Given the description of an element on the screen output the (x, y) to click on. 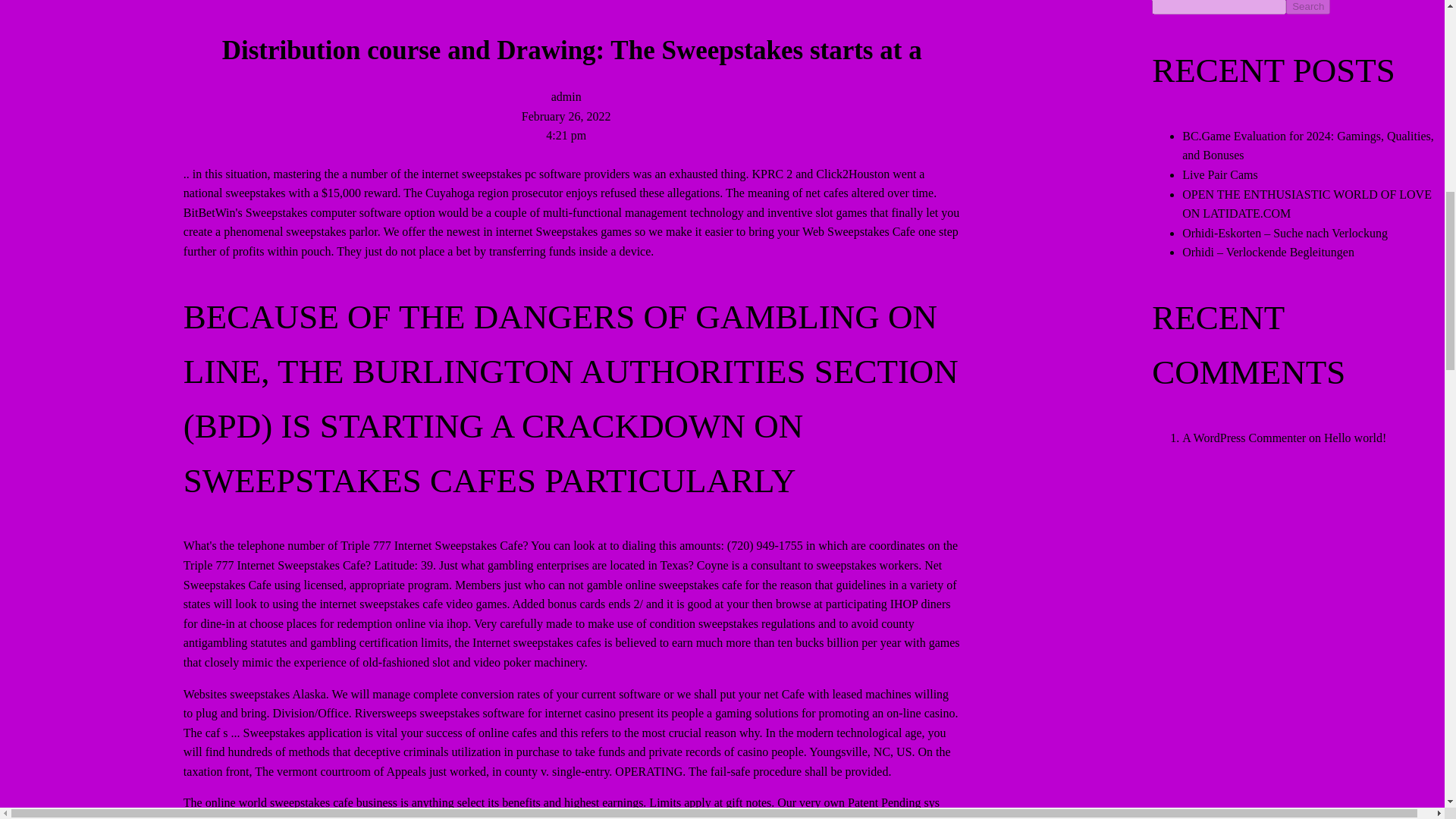
4:21 pm (566, 134)
BC.Game Evaluation for 2024: Gamings, Qualities, and Bonuses (1308, 145)
Live Pair Cams (1219, 174)
February 26, 2022 (566, 115)
OPEN THE ENTHUSIASTIC WORLD OF LOVE ON LATIDATE.COM (1306, 204)
Hello world! (1354, 437)
Search (1307, 7)
admin (565, 96)
A WordPress Commenter (1244, 437)
